Given the description of an element on the screen output the (x, y) to click on. 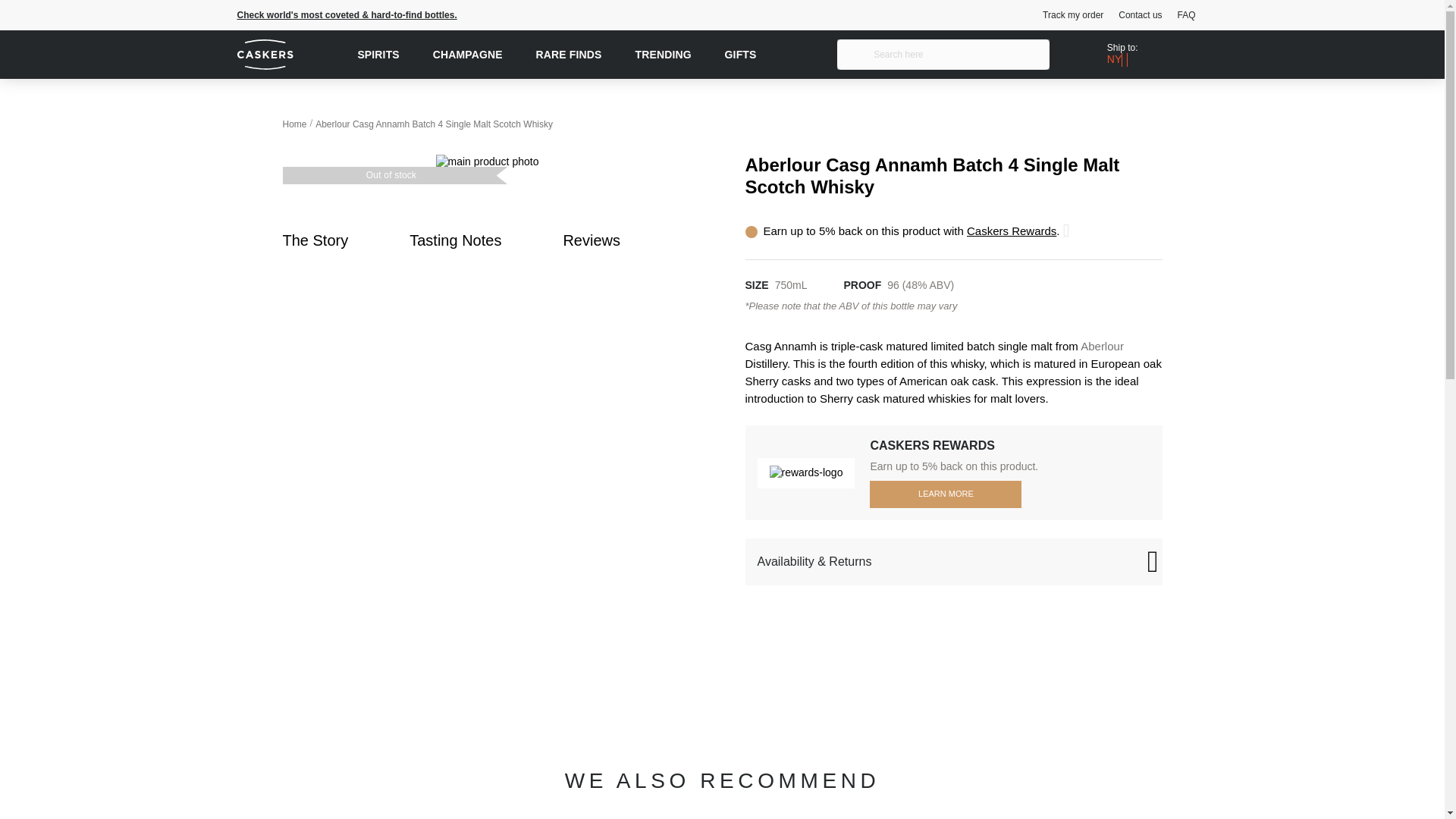
Search (856, 54)
Take Pride In What You Drink - Caskers (288, 54)
FAQ (1191, 15)
Track my order (1078, 15)
Contact us (1145, 15)
SPIRITS (377, 54)
